Given the description of an element on the screen output the (x, y) to click on. 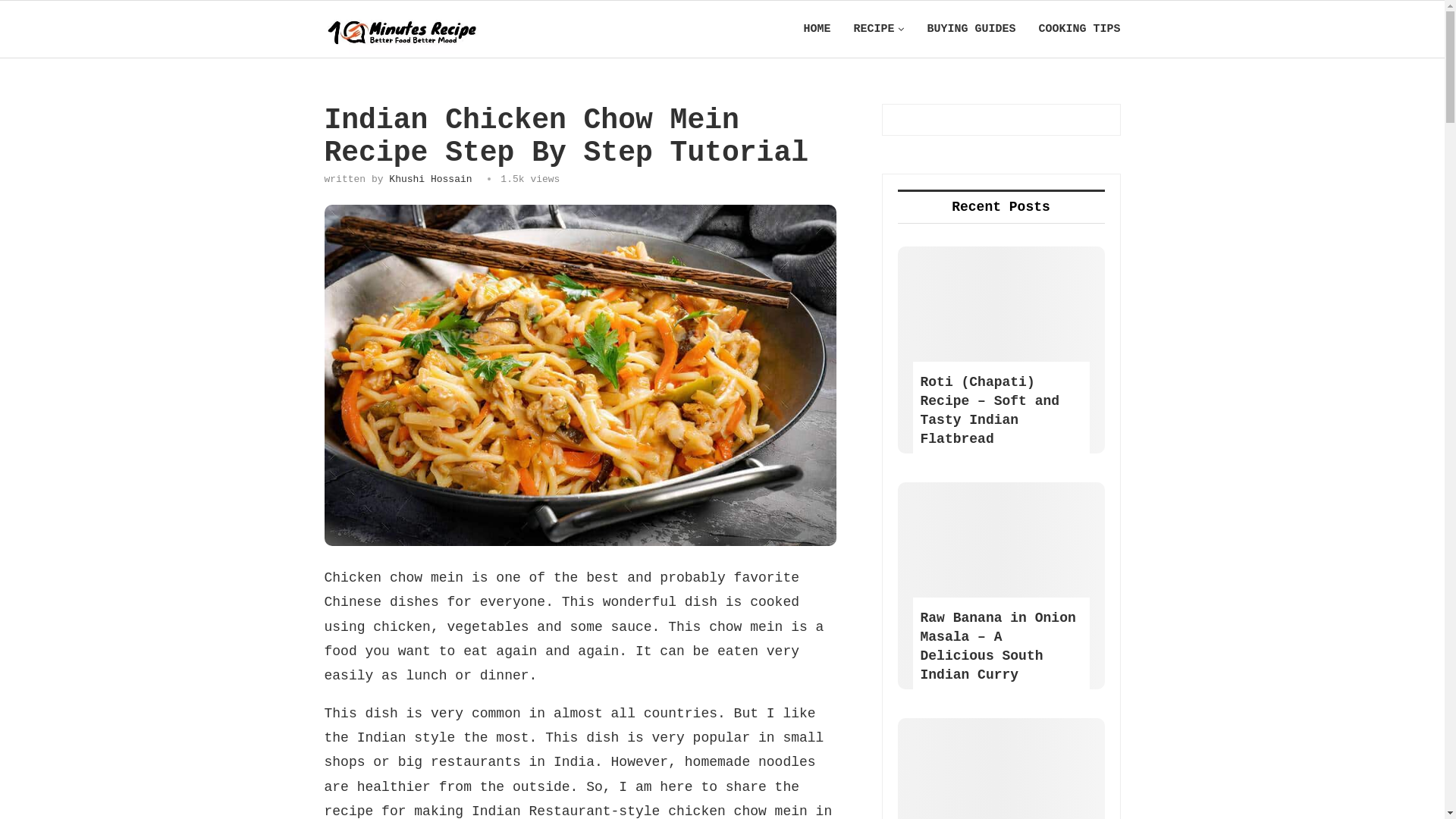
RECIPE Element type: text (878, 28)
BUYING GUIDES Element type: text (970, 28)
COOKING TIPS Element type: text (1079, 28)
Chicken Chow Mein Recipe Step By Step Element type: hover (580, 375)
HOME Element type: text (816, 28)
Khushi Hossain Element type: text (430, 179)
